Given the description of an element on the screen output the (x, y) to click on. 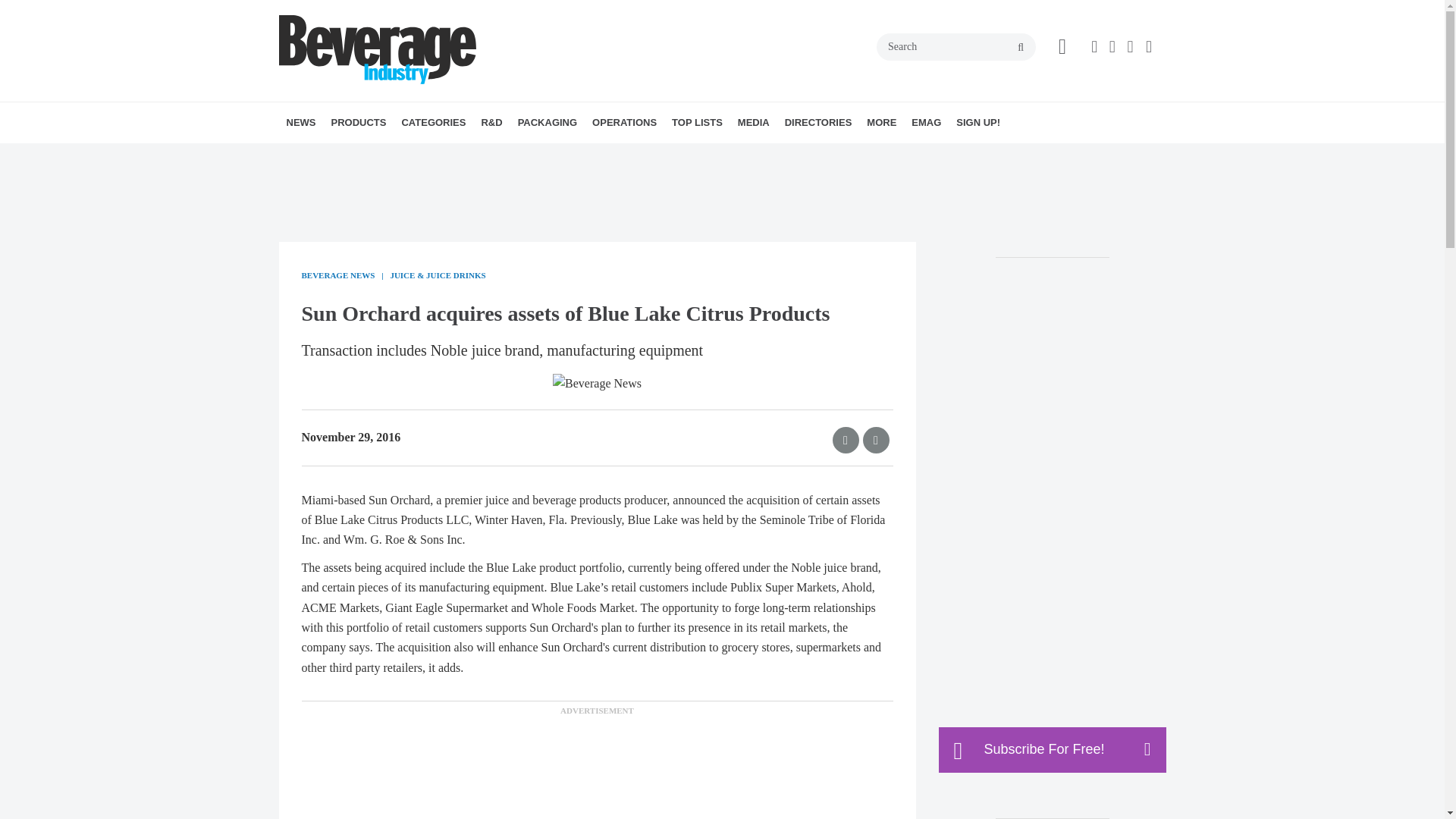
Search (955, 46)
CARBONATED SOFT DRINKS (512, 155)
TEA AND COFFEE (528, 155)
CANNABIS BEVERAGES (507, 155)
READER'S CHOICE POLL (424, 155)
BEER (496, 155)
CATEGORIES (433, 122)
PRODUCTS (358, 122)
SPORTS DRINKS (525, 155)
INGREDIENT SPOTLIGHT (574, 155)
